Given the description of an element on the screen output the (x, y) to click on. 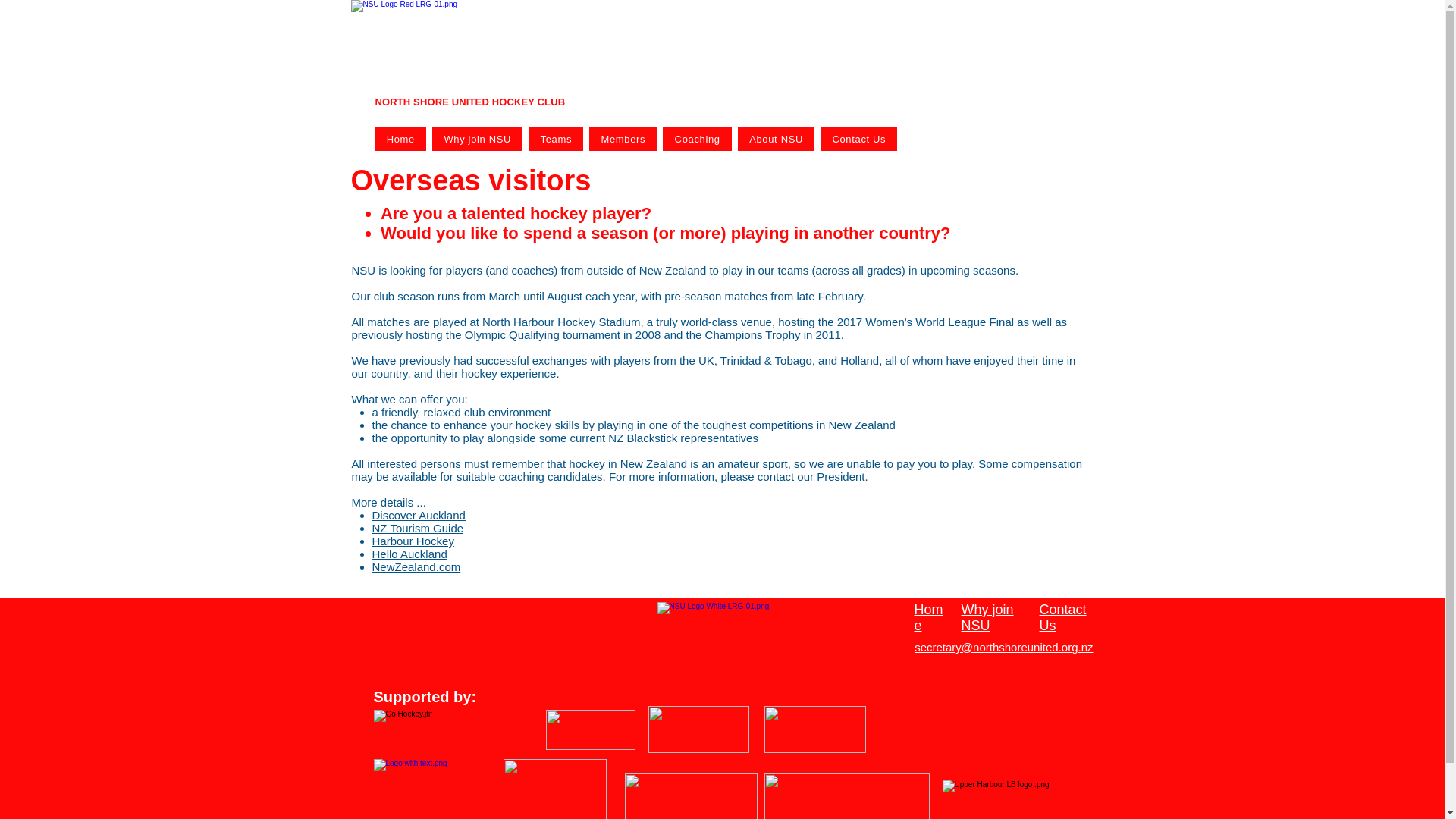
Why join NSU (477, 138)
Home (400, 138)
